Given the description of an element on the screen output the (x, y) to click on. 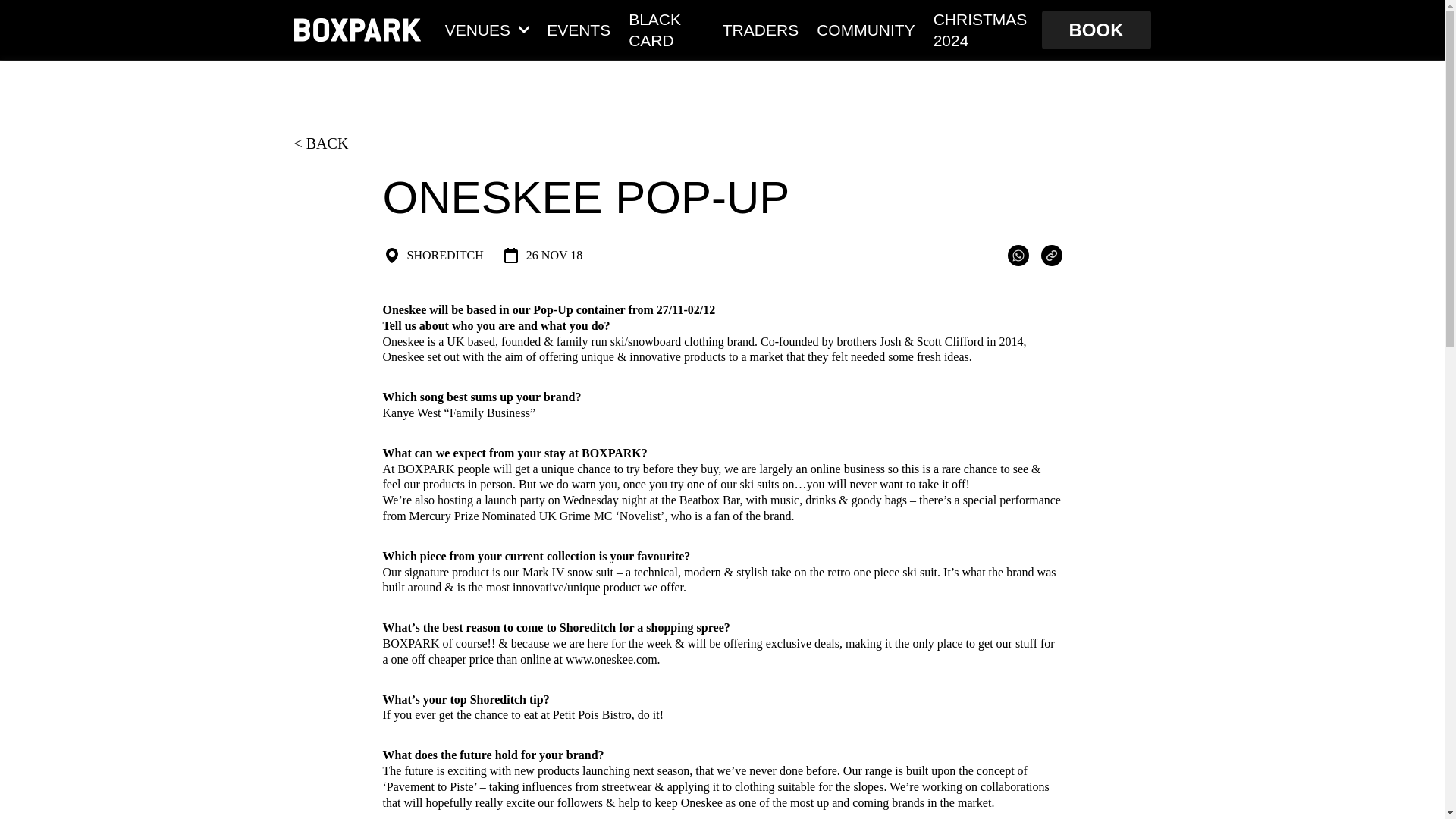
BLACK CARD (666, 29)
CHRISTMAS 2024 (982, 29)
TRADERS (759, 29)
COMMUNITY (865, 29)
VENUES (486, 29)
EVENTS (578, 29)
